Given the description of an element on the screen output the (x, y) to click on. 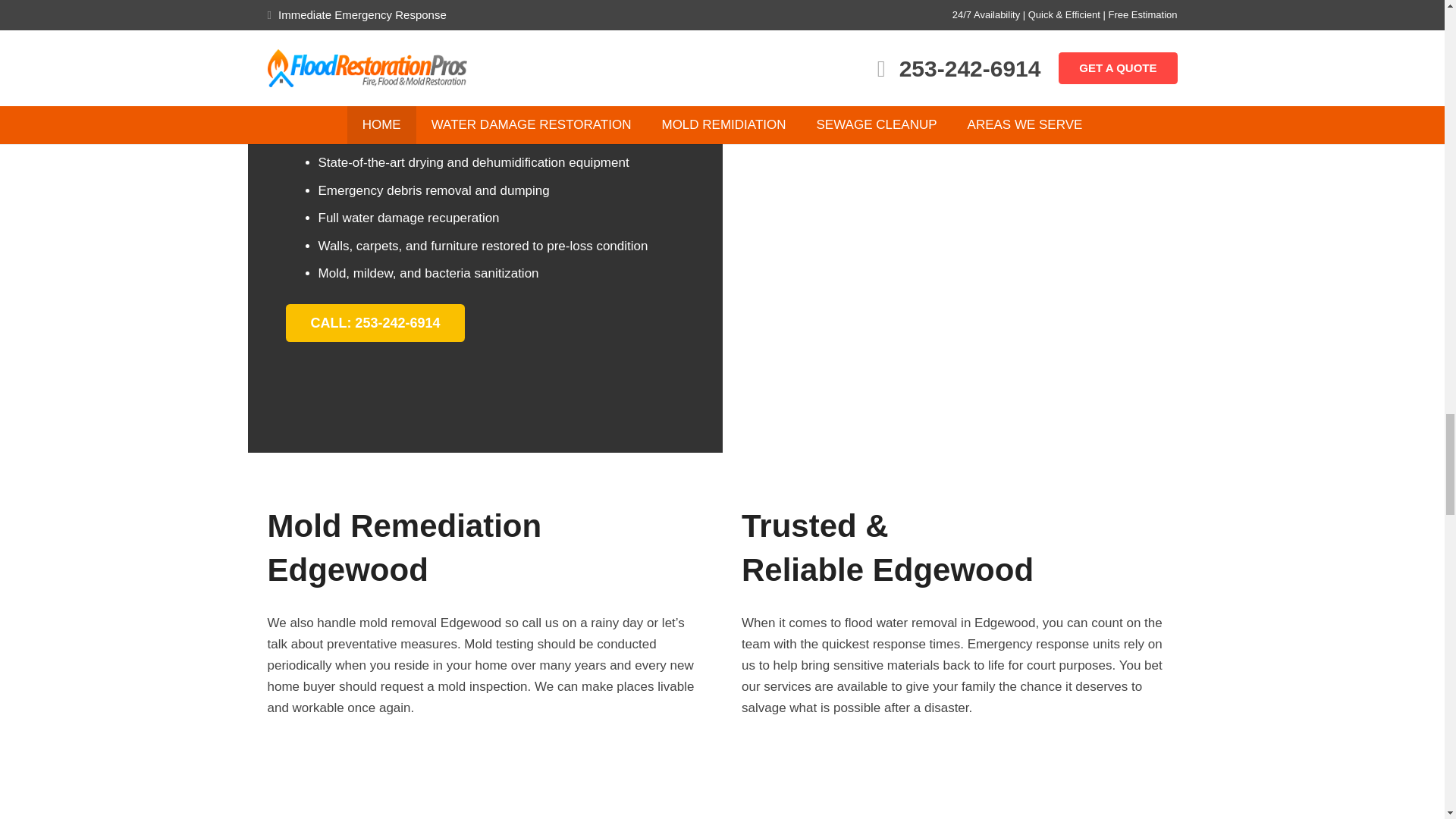
CALL: 253-242-6914 (374, 322)
